Given the description of an element on the screen output the (x, y) to click on. 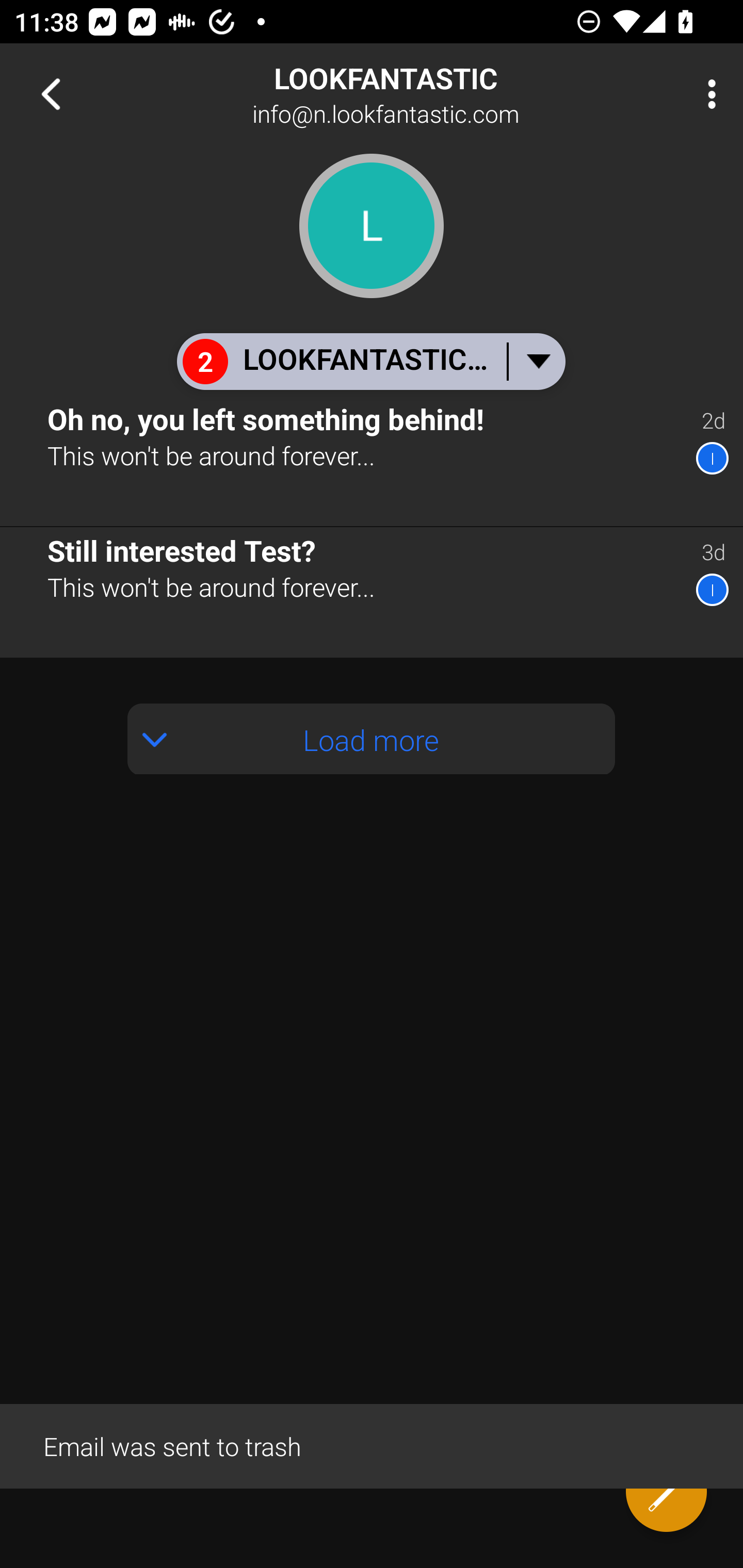
Navigate up (50, 93)
LOOKFANTASTIC info@n.lookfantastic.com (436, 93)
More Options (706, 93)
2 LOOKFANTASTIC & You (370, 361)
Load more (371, 739)
Email was sent to trash (371, 1445)
